Given the description of an element on the screen output the (x, y) to click on. 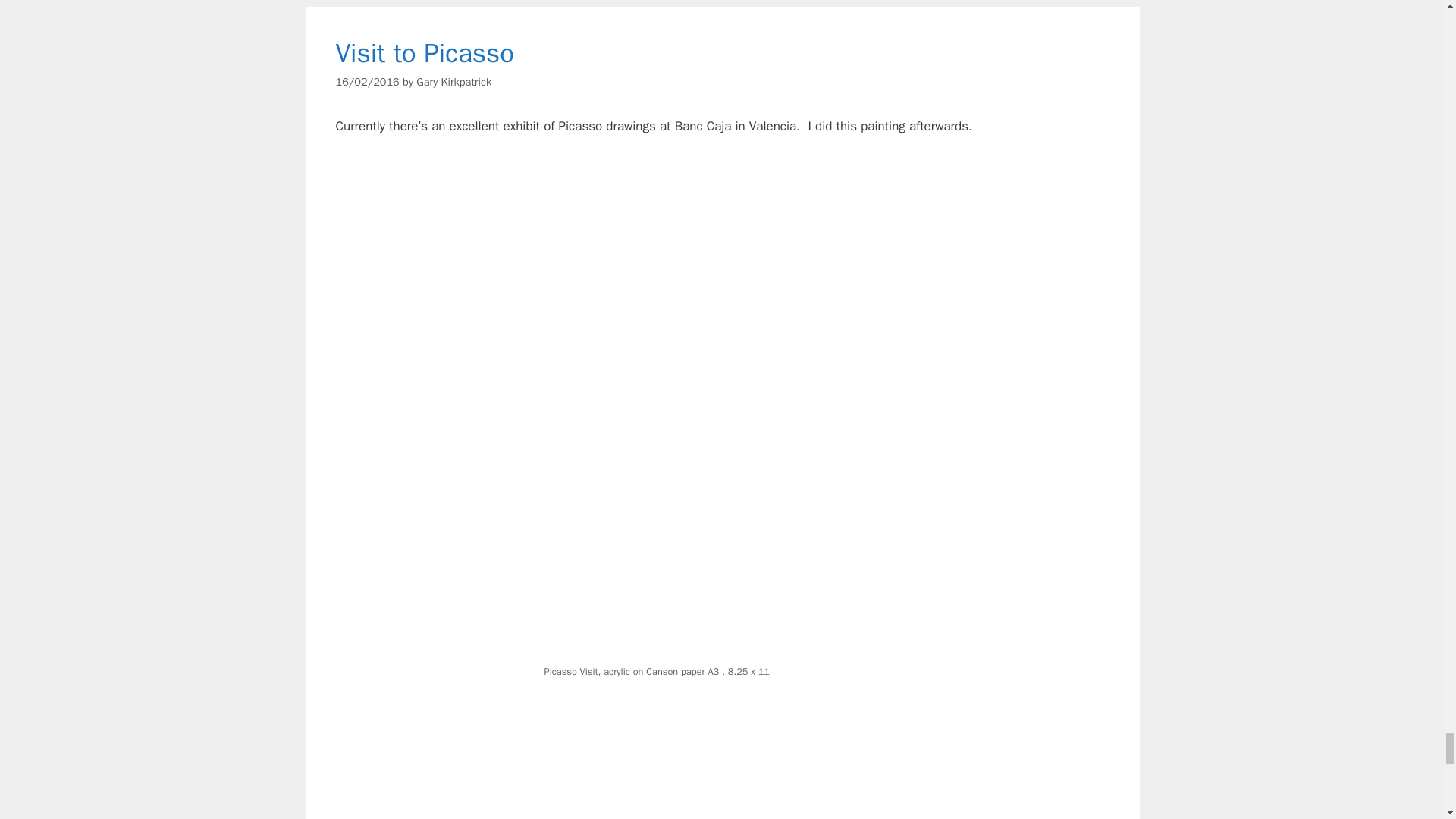
View all posts by Gary Kirkpatrick (454, 81)
